Given the description of an element on the screen output the (x, y) to click on. 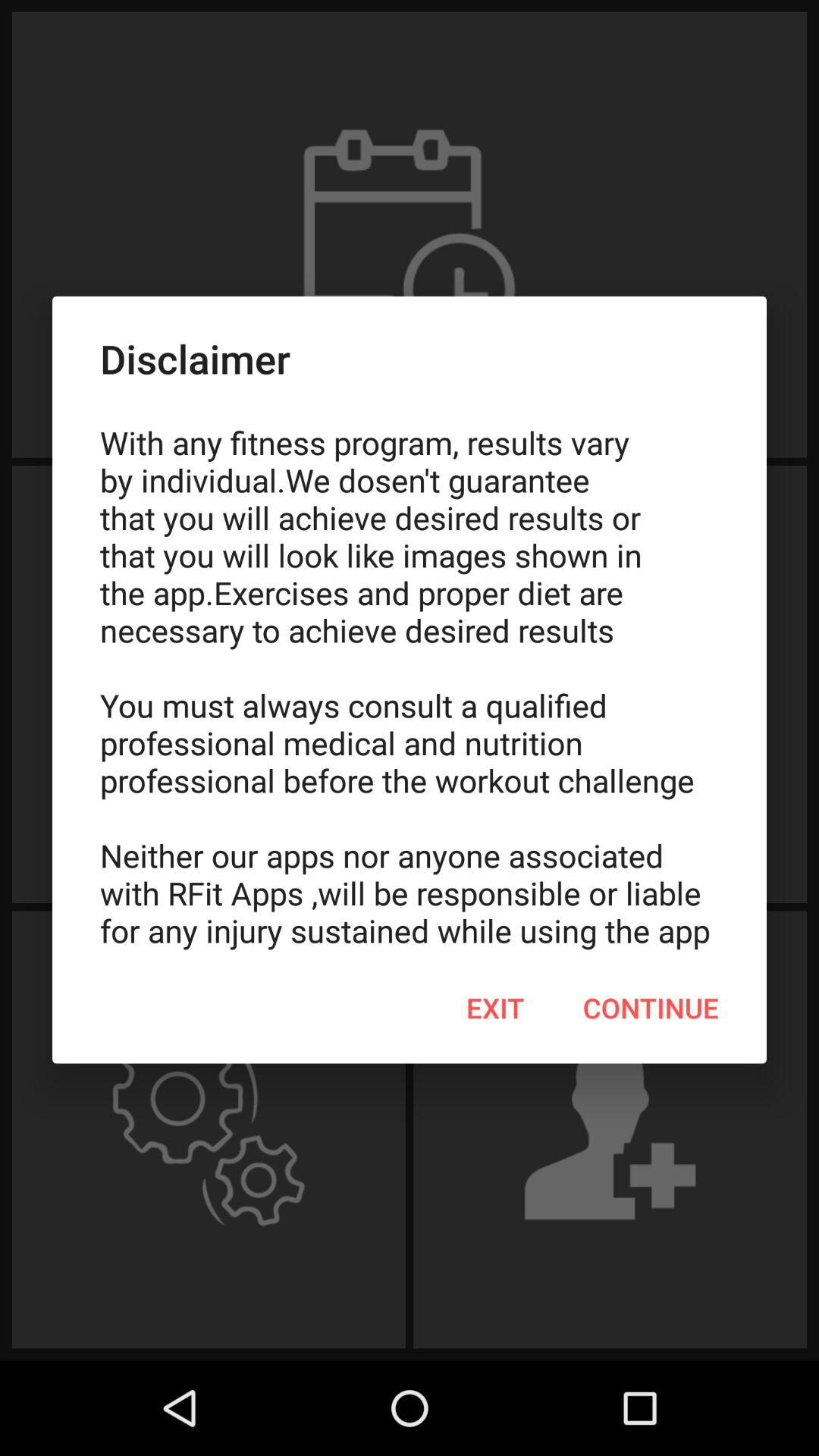
swipe until continue (650, 1007)
